Given the description of an element on the screen output the (x, y) to click on. 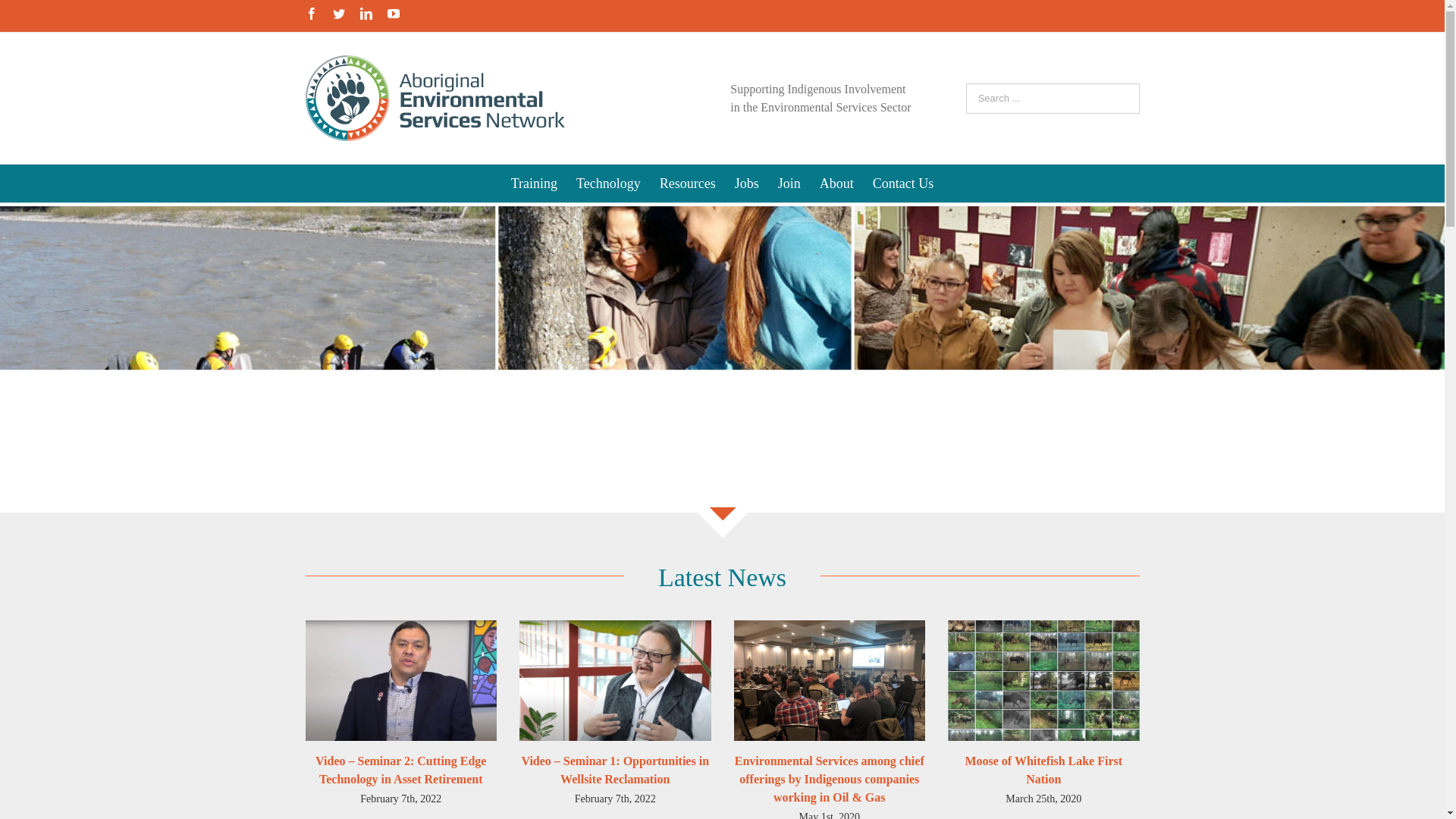
Jobs Element type: text (746, 183)
Twitter Element type: text (338, 13)
Training Element type: text (534, 183)
Youtube Element type: text (392, 13)
Linkedin Element type: text (365, 13)
Moose of Whitefish Lake First Nation Element type: text (1043, 769)
Resources Element type: text (687, 183)
About Element type: text (836, 183)
Join Element type: text (789, 183)
Contact Us Element type: text (903, 183)
Technology Element type: text (608, 183)
Facebook Element type: text (310, 13)
